Given the description of an element on the screen output the (x, y) to click on. 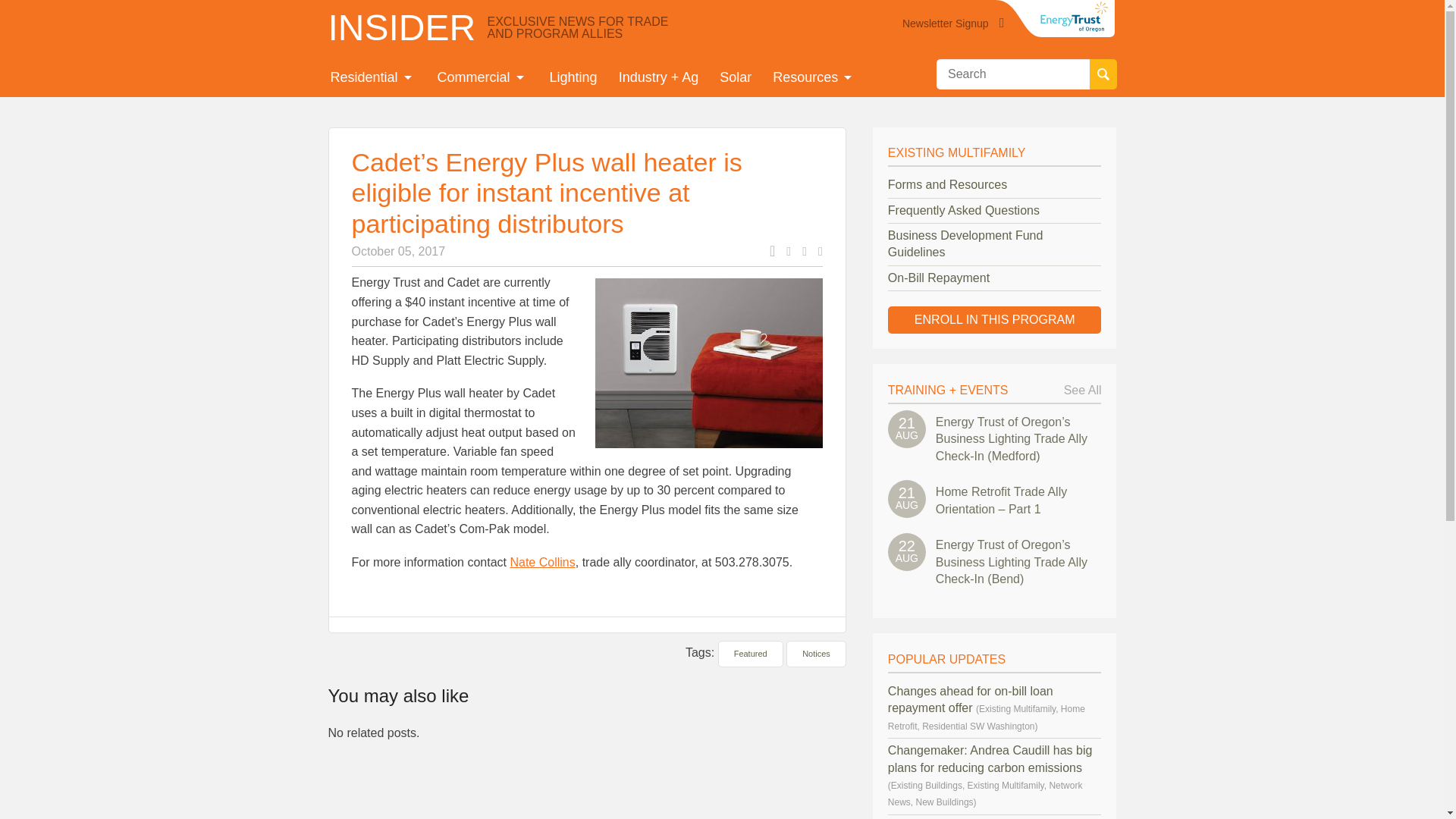
Commercial (482, 77)
INSIDER (401, 27)
Newsletter Signup (945, 23)
Resources (813, 77)
Lighting (573, 77)
Solar (735, 77)
Search (1102, 73)
Residential (373, 77)
